Given the description of an element on the screen output the (x, y) to click on. 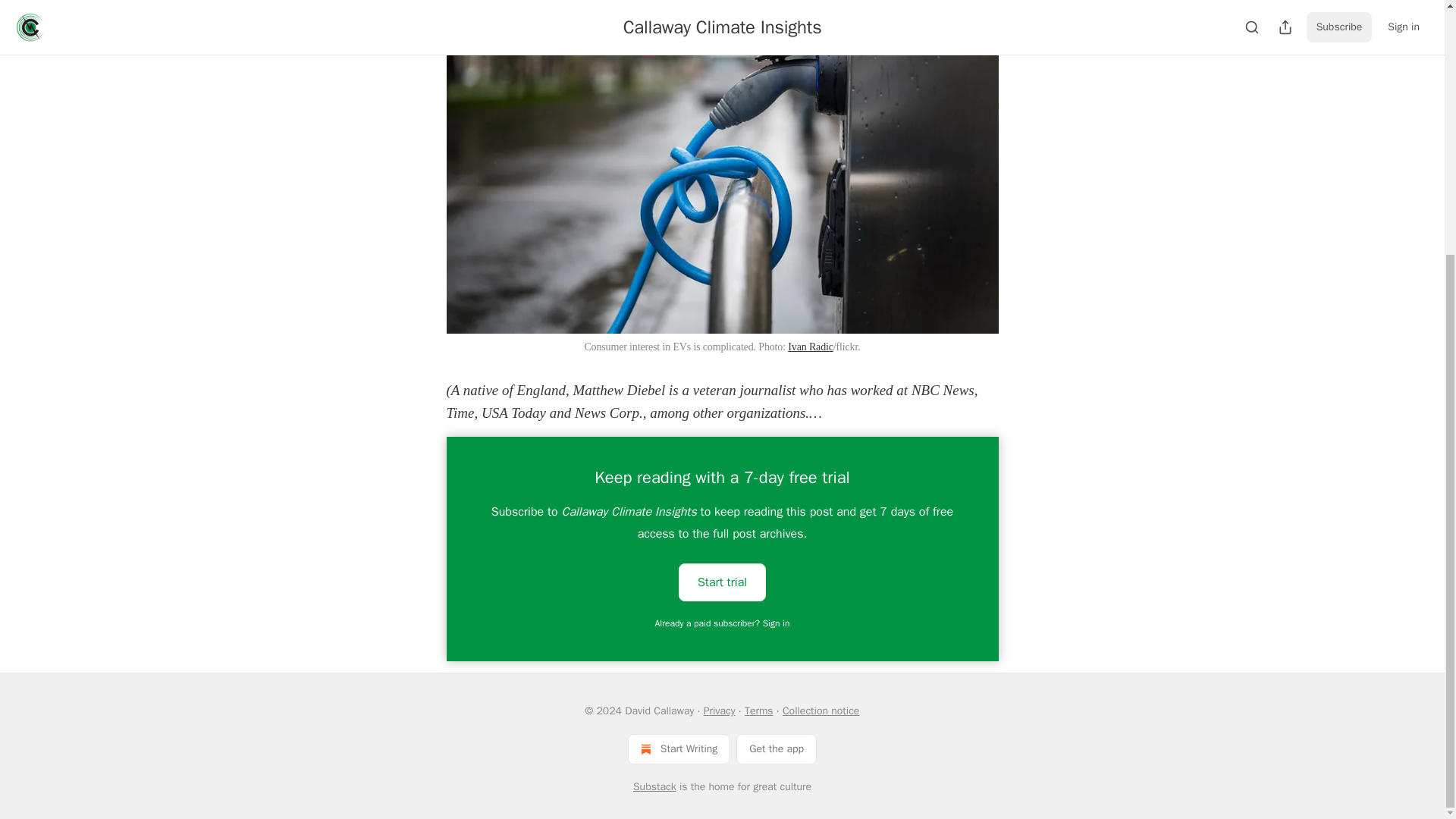
Already a paid subscriber? Sign in (722, 623)
Ivan Radic (809, 346)
Get the app (776, 748)
Collection notice (821, 710)
Start Writing (678, 748)
Terms (758, 710)
Privacy (719, 710)
Start trial (721, 581)
Substack (655, 786)
Start trial (721, 582)
